Given the description of an element on the screen output the (x, y) to click on. 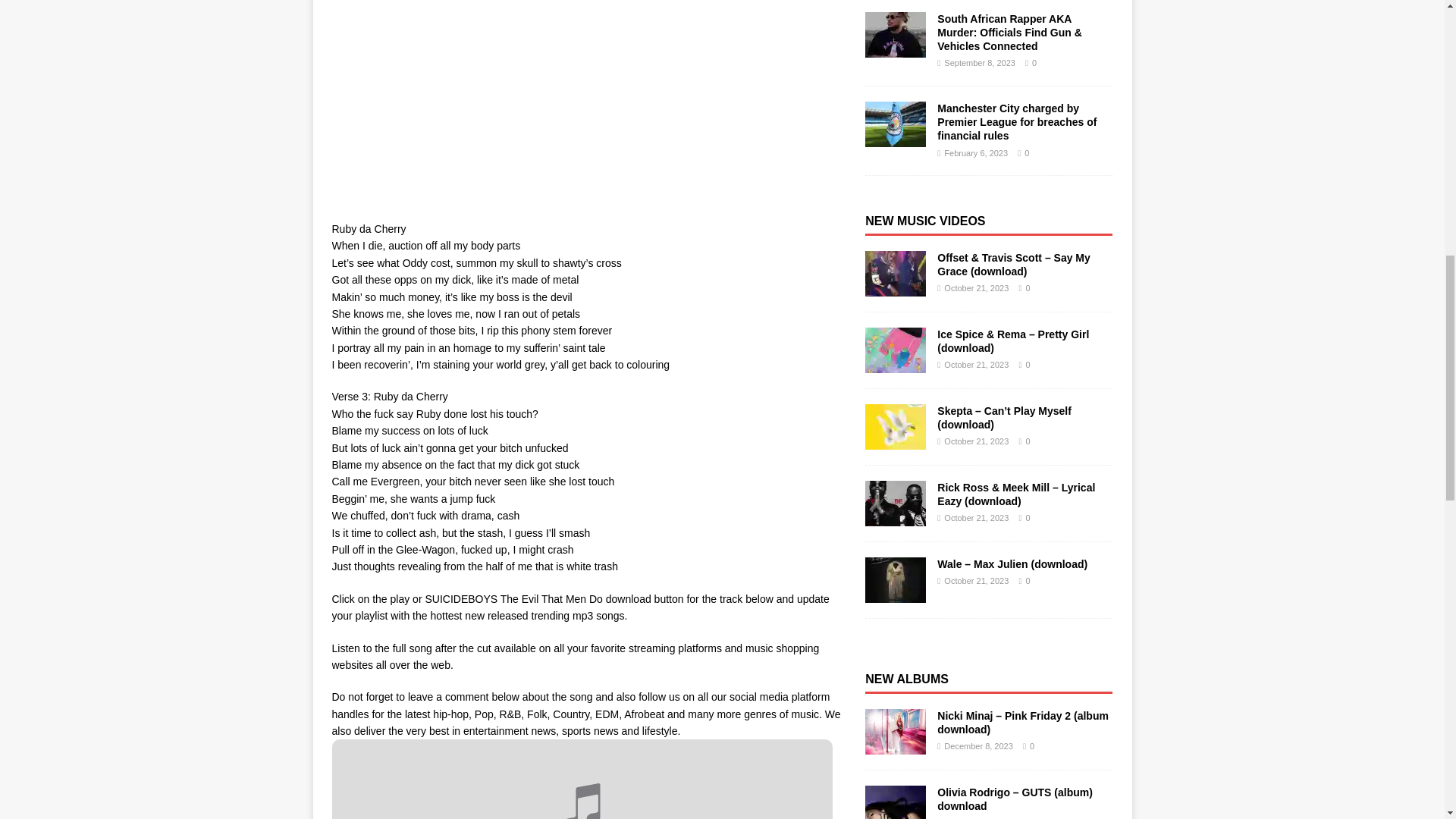
Advertisement (588, 102)
